Given the description of an element on the screen output the (x, y) to click on. 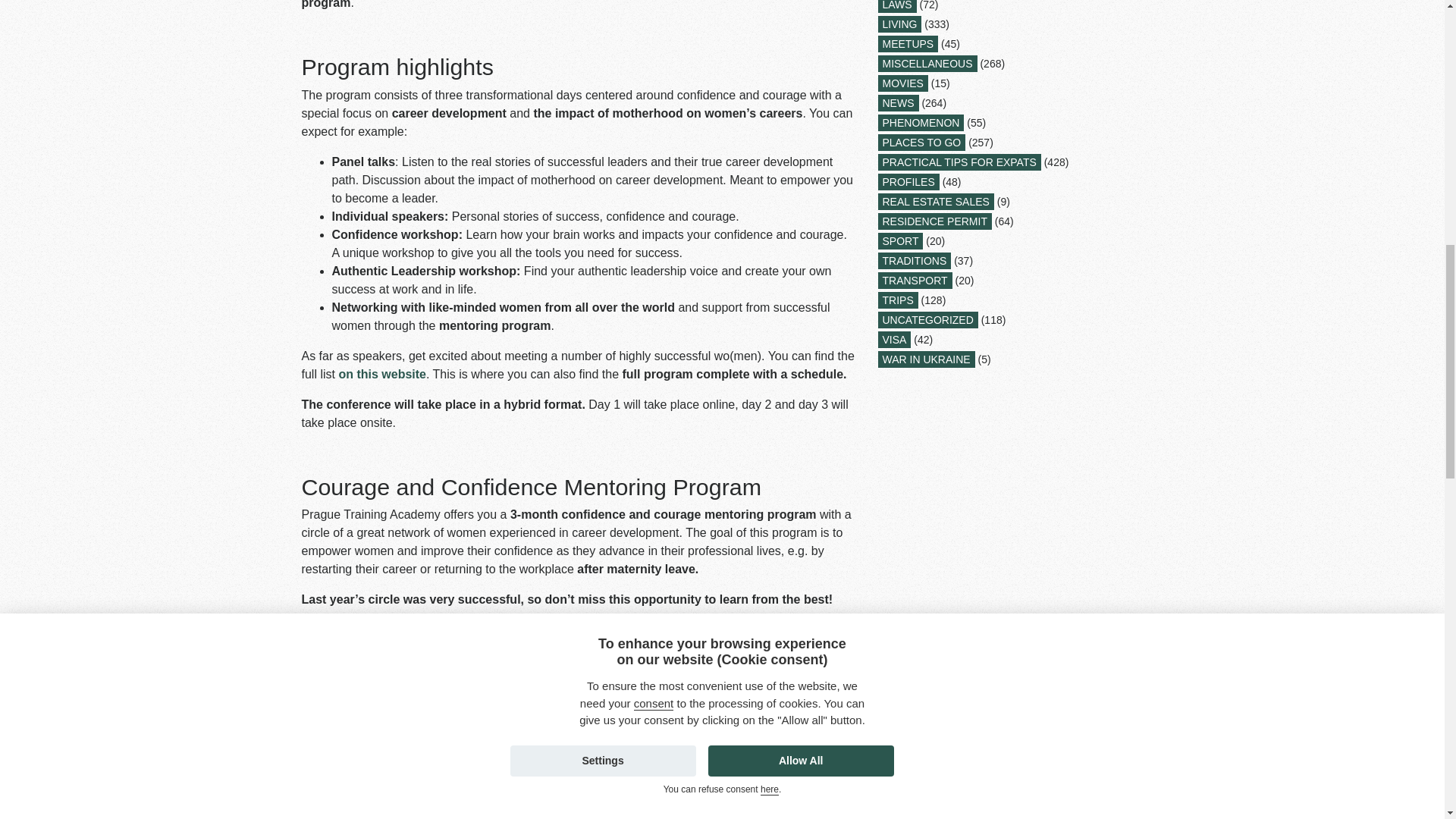
on this website (381, 373)
Visit the ticket portal (360, 788)
watch a video (445, 709)
